Given the description of an element on the screen output the (x, y) to click on. 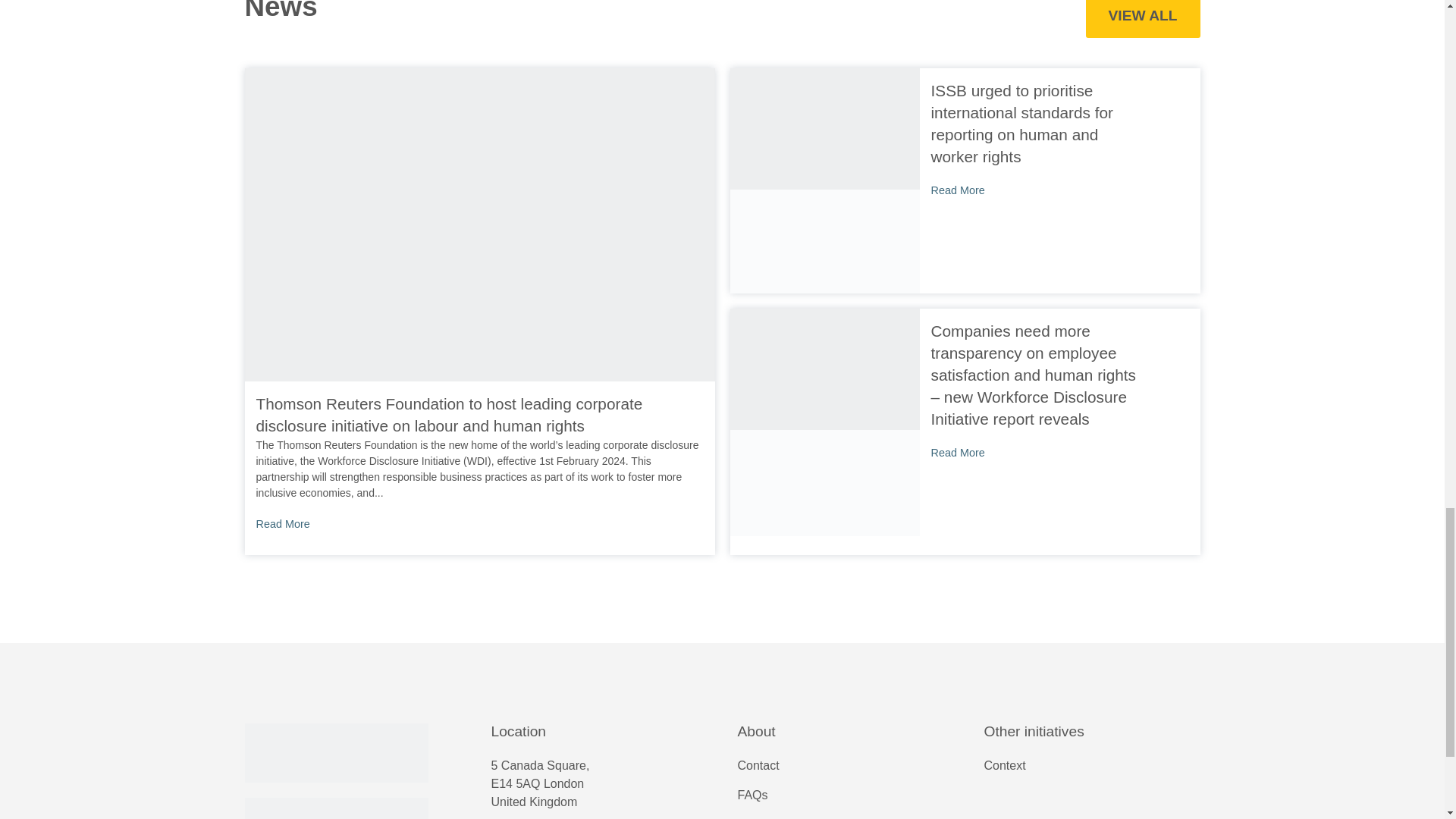
VIEW ALL (1142, 18)
Read More (1036, 190)
Read More (479, 524)
